Given the description of an element on the screen output the (x, y) to click on. 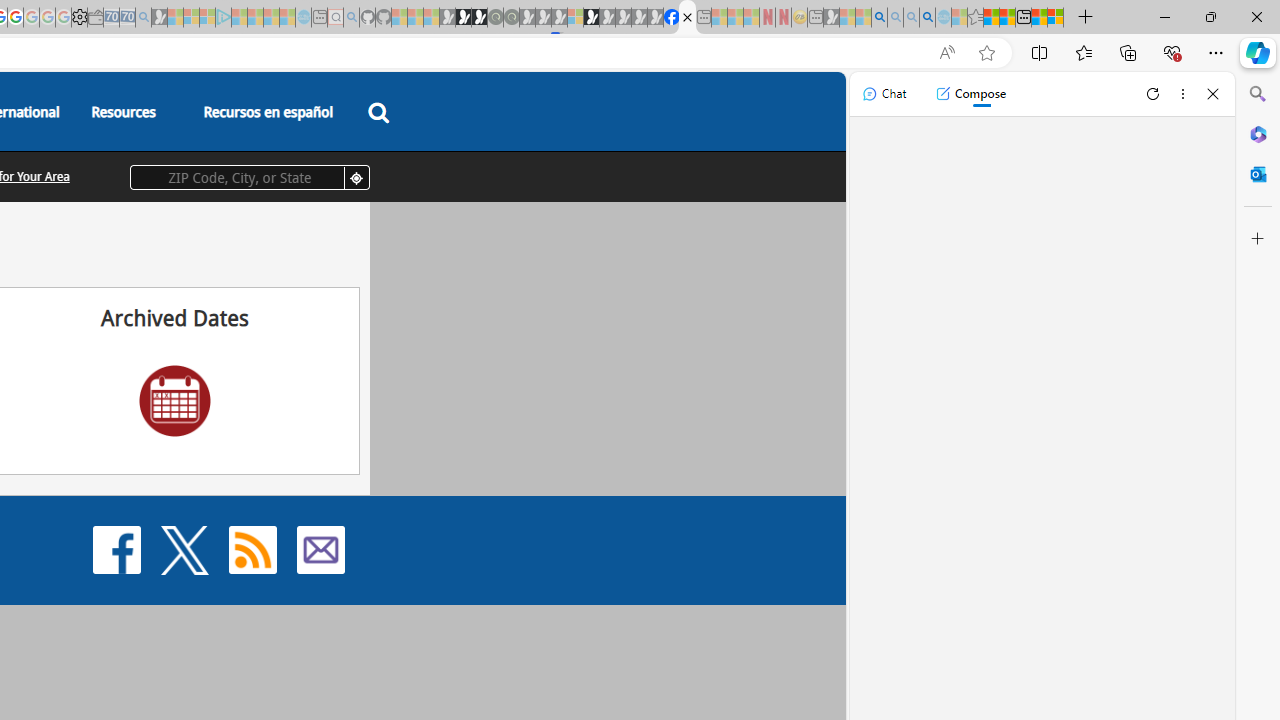
Facebook (116, 548)
ZIP Code, City, or State (249, 177)
MSN - Sleeping (831, 17)
Aberdeen, Hong Kong SAR weather forecast | Microsoft Weather (1007, 17)
Compose (970, 93)
Class: main-link dropbtn-nav-link (267, 111)
RSS (252, 548)
Google Chrome Internet Browser Download - Search Images (927, 17)
